Given the description of an element on the screen output the (x, y) to click on. 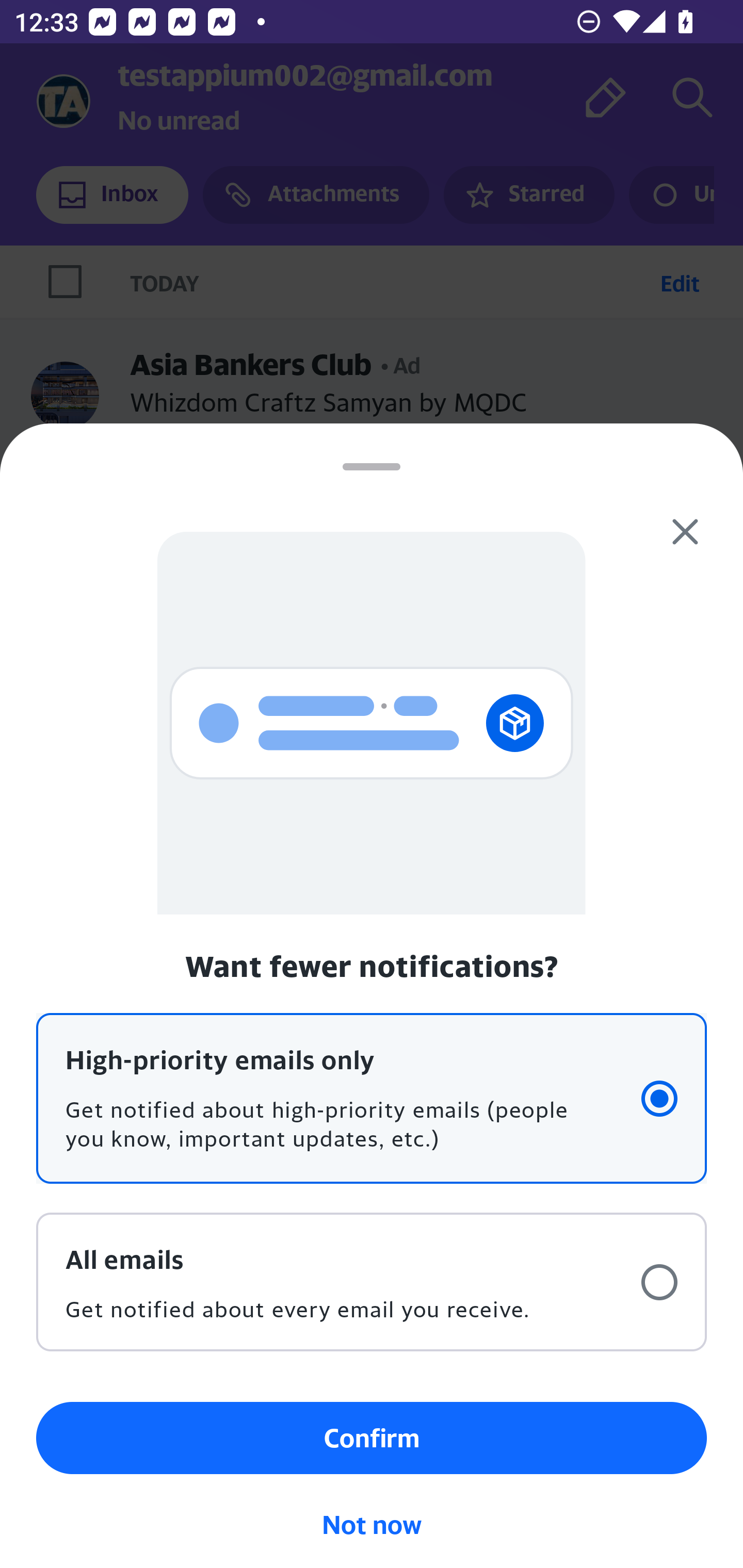
Close (684, 532)
Confirm (371, 1437)
Not now (371, 1524)
